Given the description of an element on the screen output the (x, y) to click on. 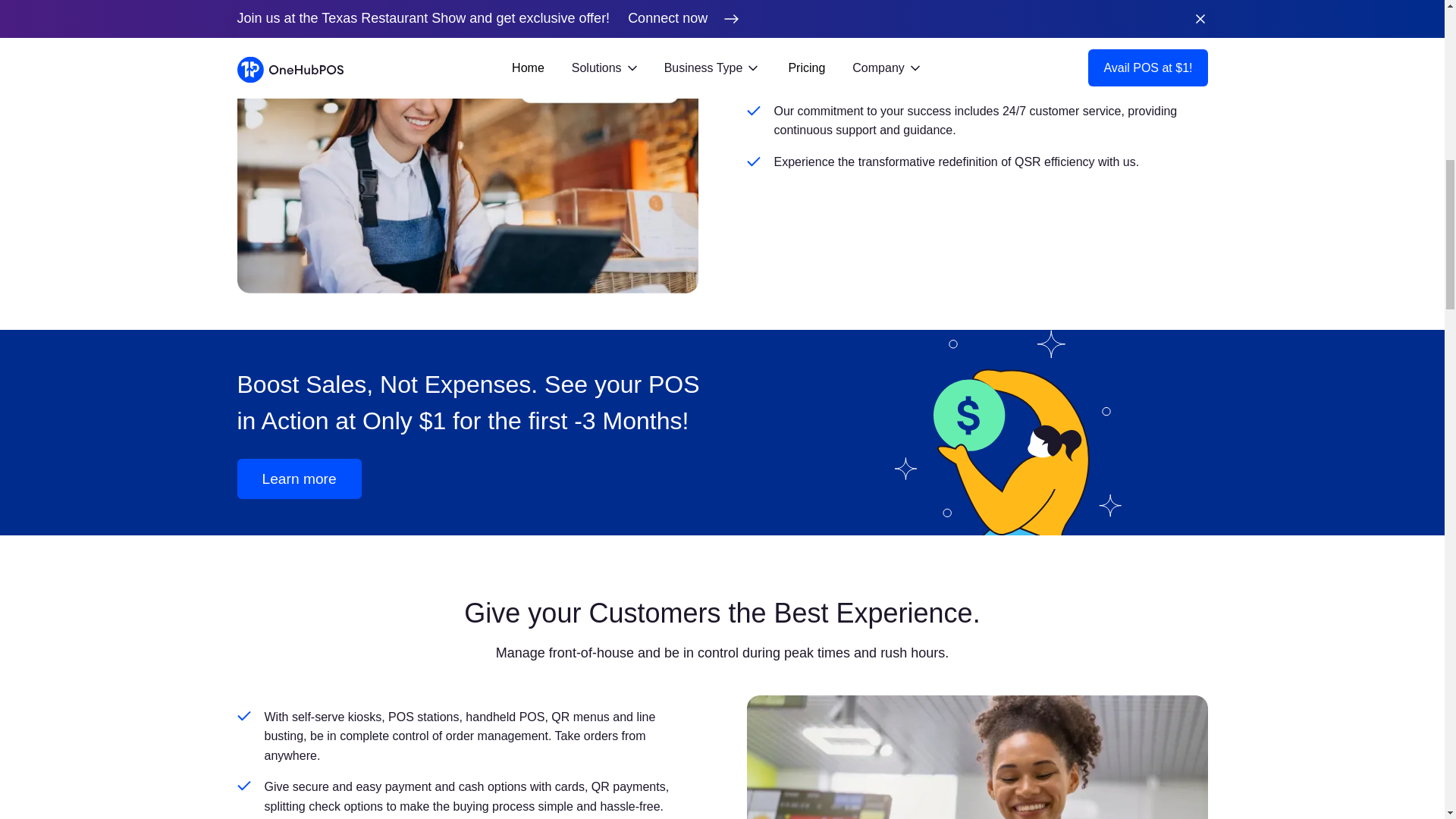
Learn more (298, 478)
